Given the description of an element on the screen output the (x, y) to click on. 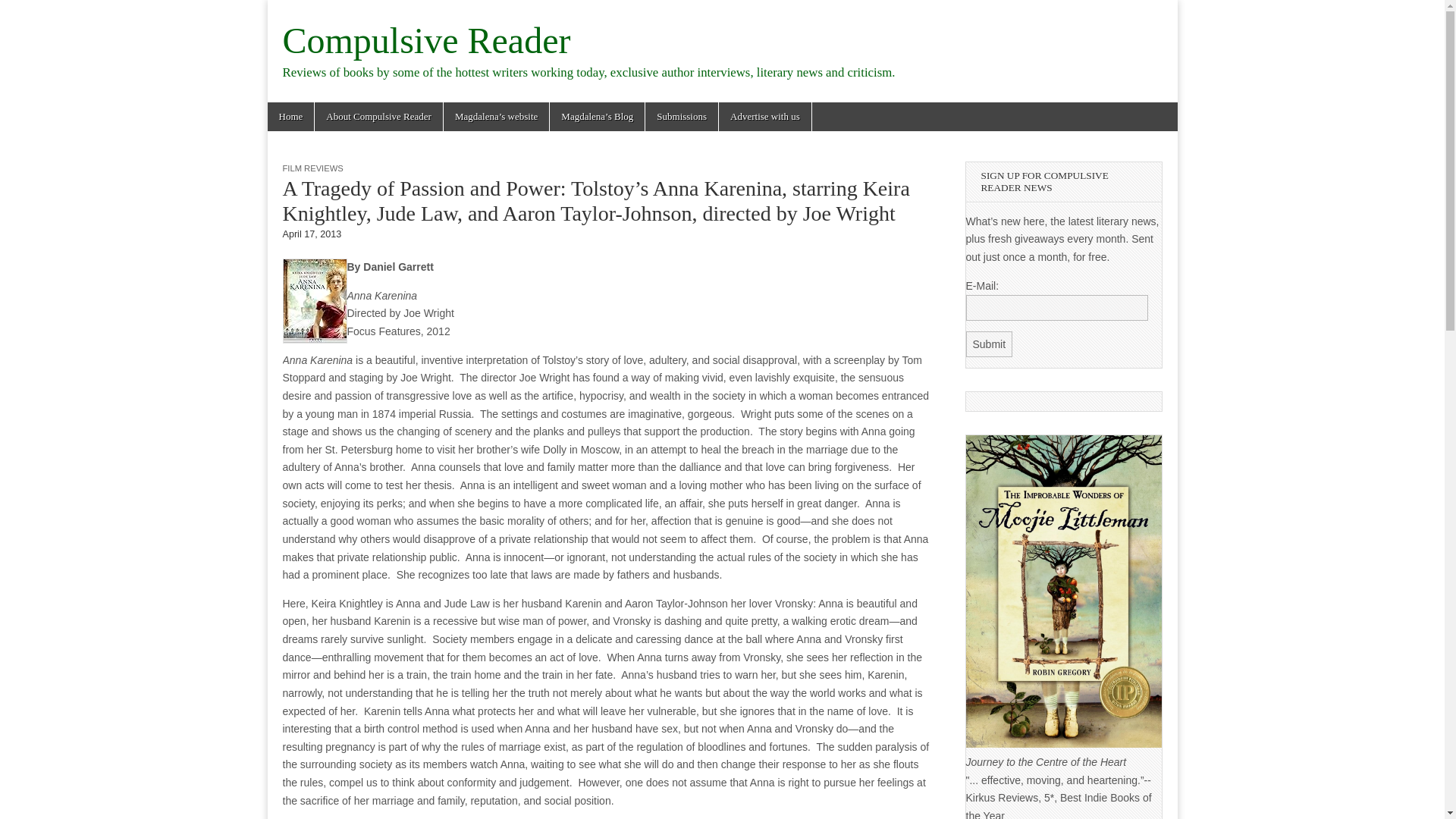
About Compulsive Reader (378, 116)
Home (290, 116)
Advertise with us (764, 116)
Compulsive Reader (426, 40)
FILM REVIEWS (312, 167)
Compulsive Reader (426, 40)
Submissions (681, 116)
Submit (989, 344)
Submit (989, 344)
Search (23, 12)
